Given the description of an element on the screen output the (x, y) to click on. 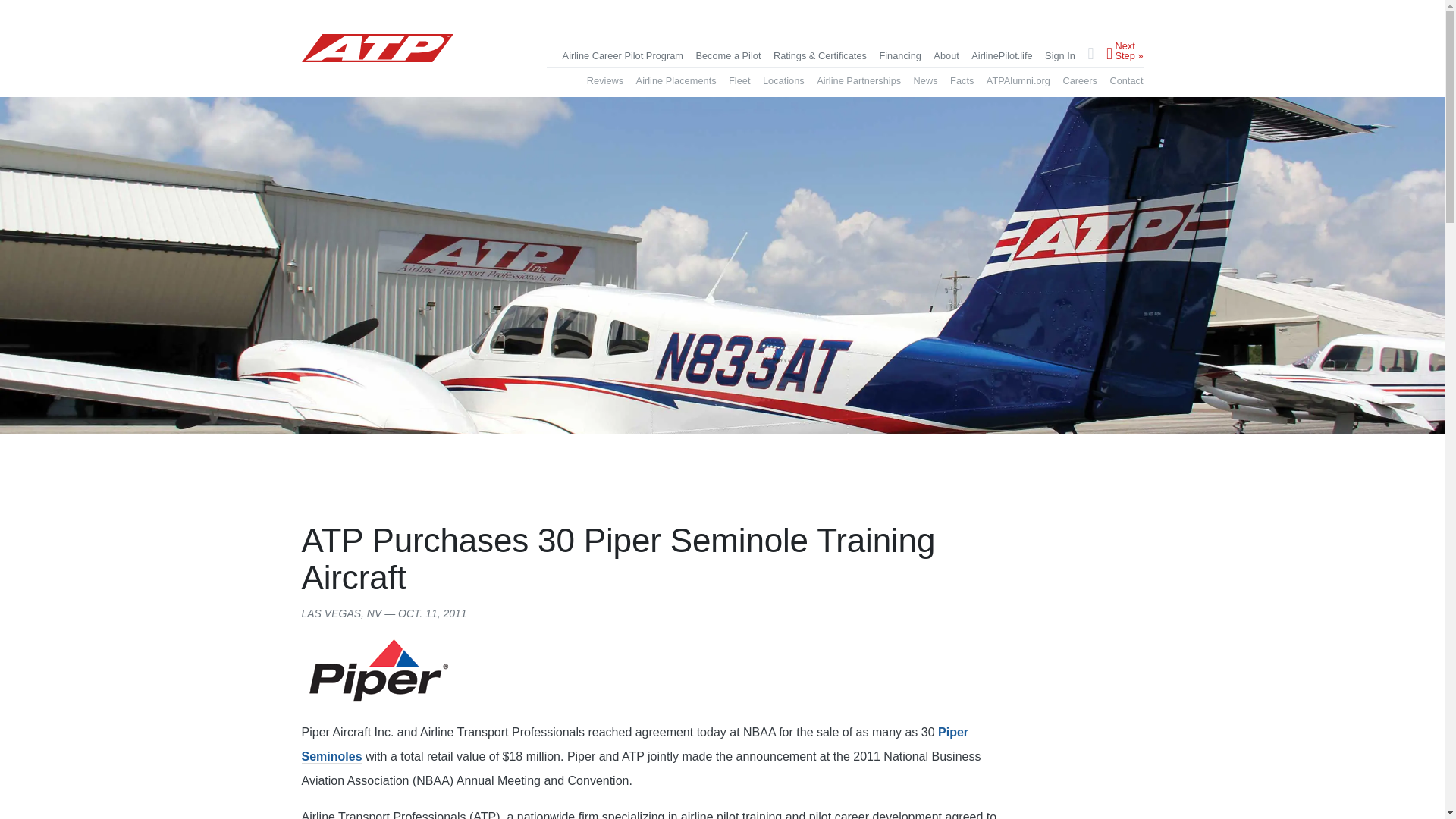
Become A Pilot - Your Pilot Career Guide (727, 55)
Become a Pilot (727, 55)
ATP Flight School (376, 48)
Airline Career Pilot Program (622, 55)
ATP Flight School (376, 62)
Financing (900, 55)
